Given the description of an element on the screen output the (x, y) to click on. 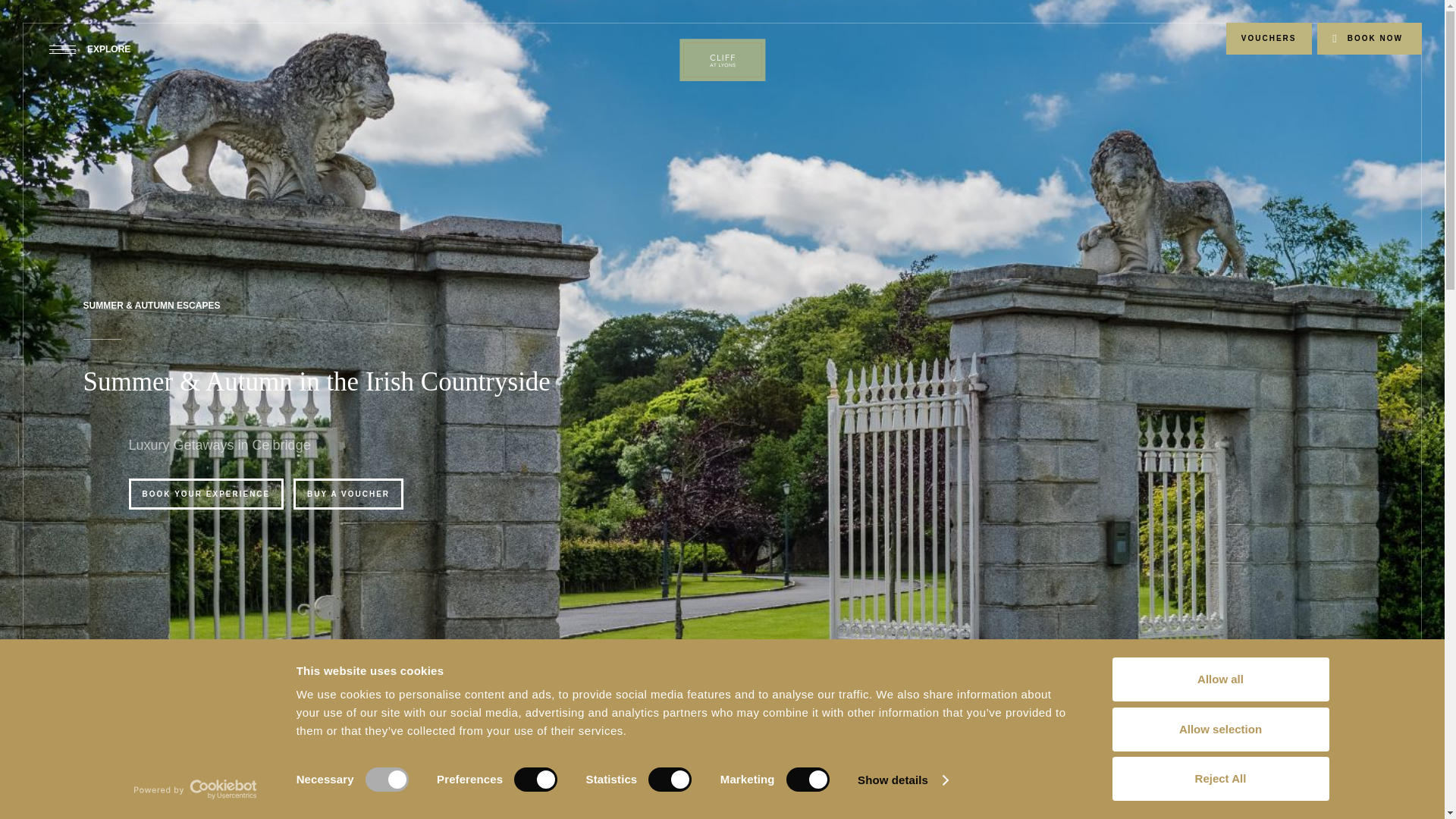
Show details (902, 780)
SCROLL TO DISCOVER MORE (721, 756)
